Given the description of an element on the screen output the (x, y) to click on. 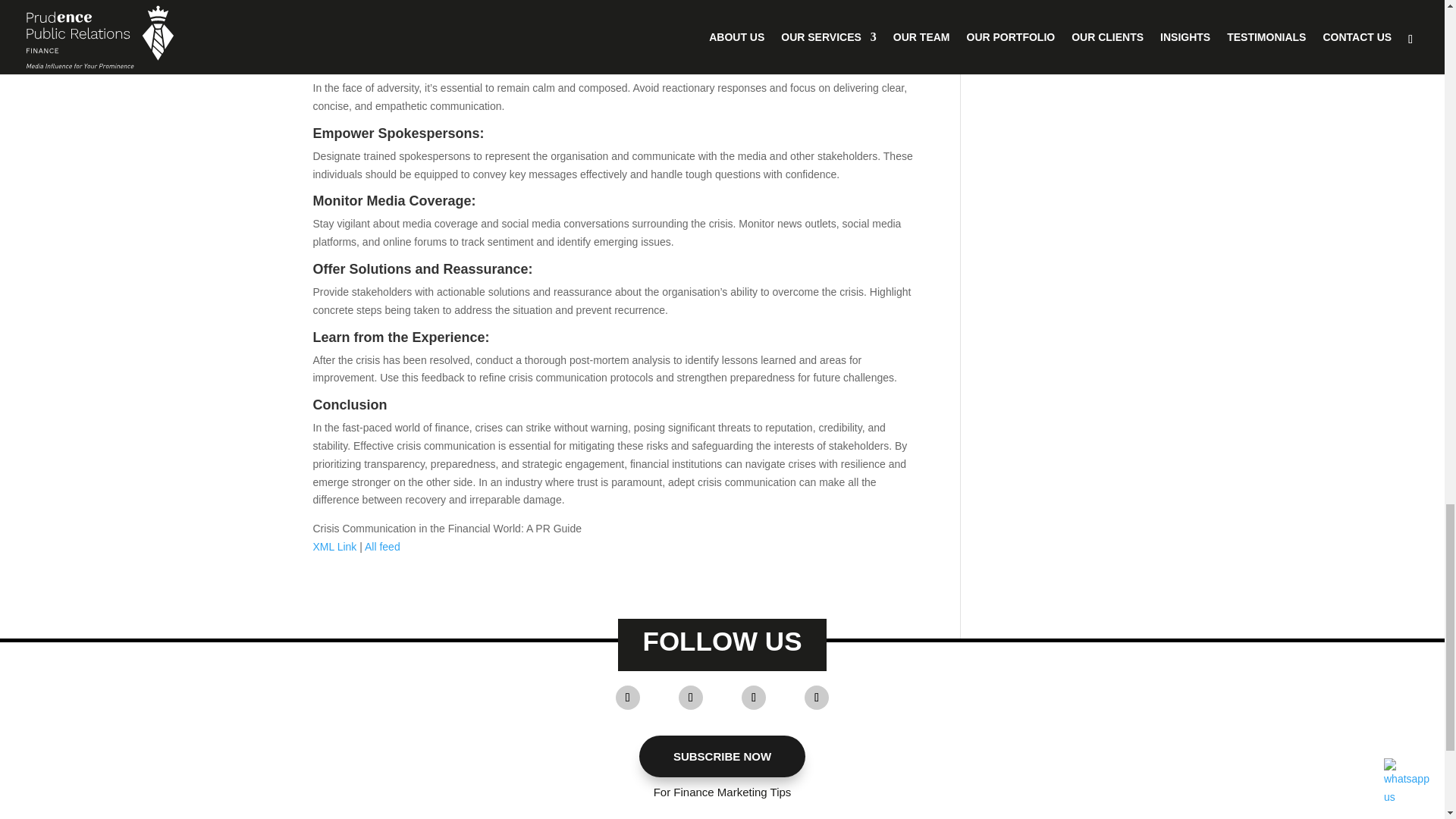
Follow on Instagram (816, 697)
Follow on Youtube (627, 697)
Follow on LinkedIn (753, 697)
All feed (382, 546)
XML Link (334, 546)
SUBSCRIBE NOW (722, 756)
Follow on Facebook (690, 697)
